Given the description of an element on the screen output the (x, y) to click on. 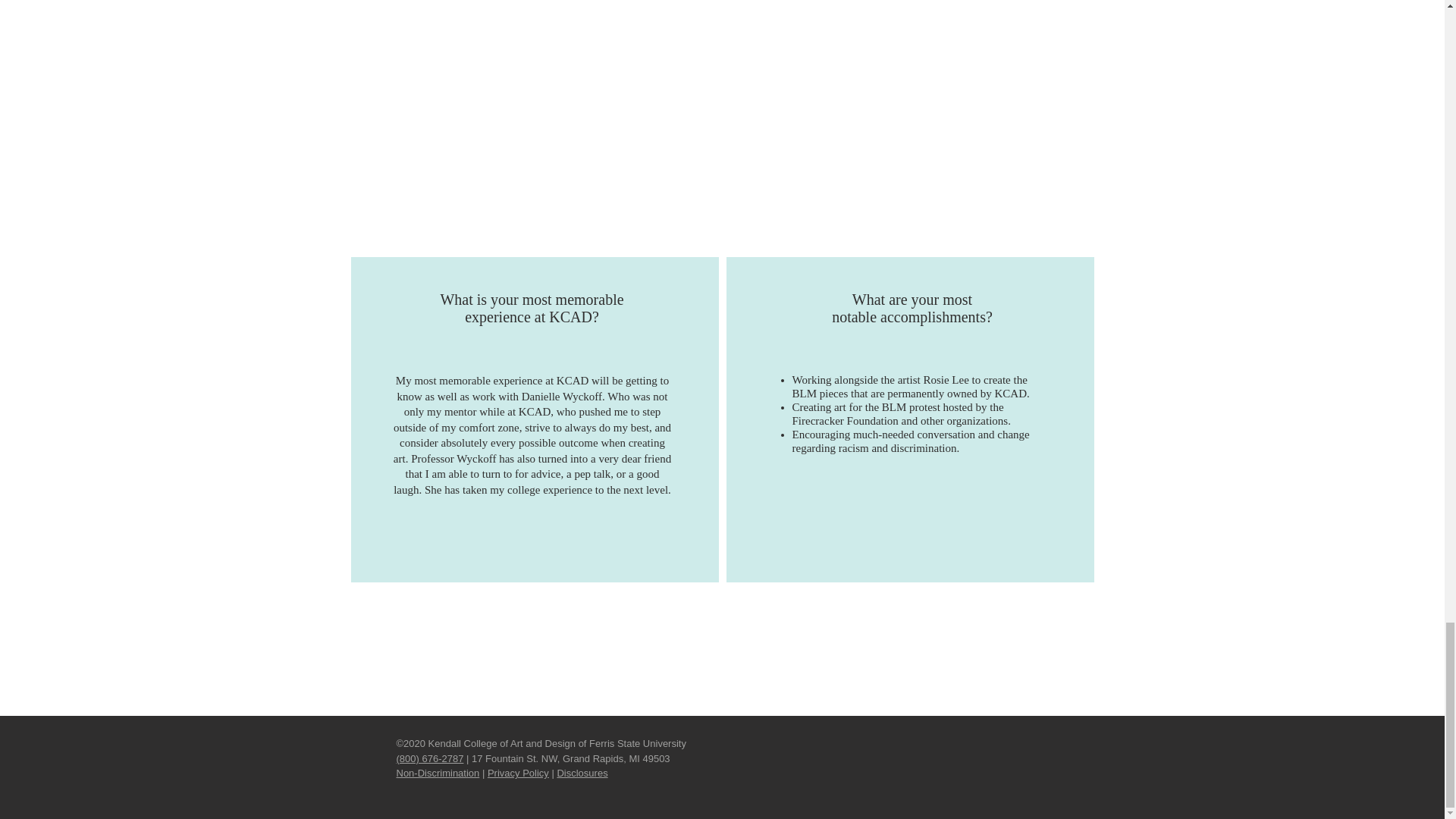
Non-Discrimination (437, 772)
Disclosures (581, 772)
Privacy Policy (517, 772)
